Given the description of an element on the screen output the (x, y) to click on. 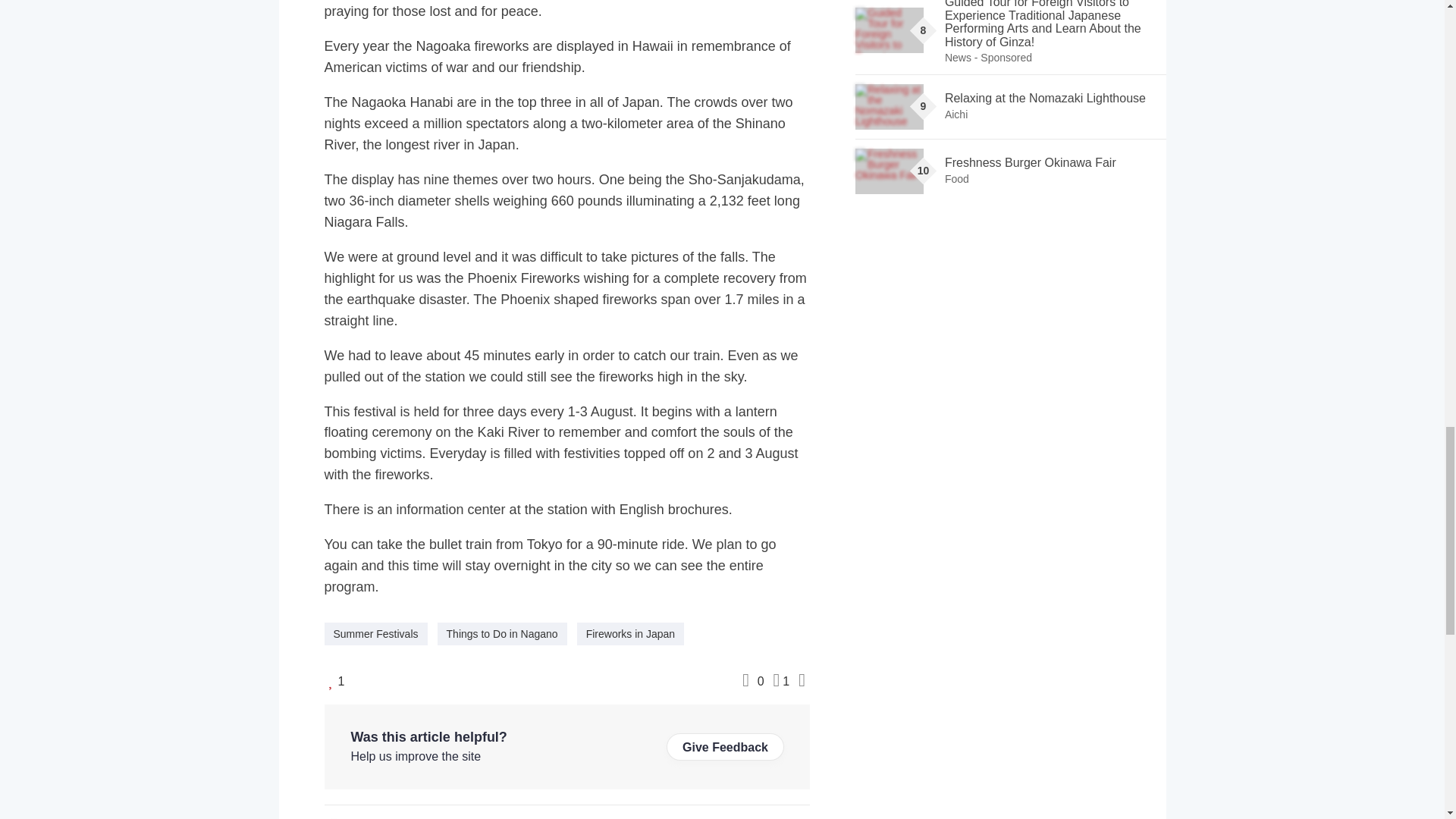
Relaxing at the Nomazaki Lighthouse (889, 106)
1 (781, 679)
Freshness Burger Okinawa Fair (889, 171)
